Given the description of an element on the screen output the (x, y) to click on. 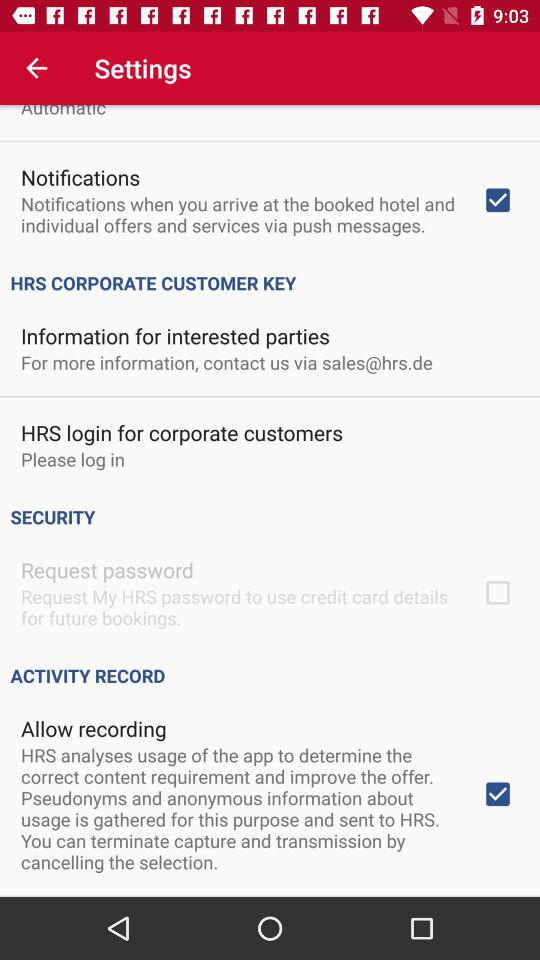
back (36, 68)
